Given the description of an element on the screen output the (x, y) to click on. 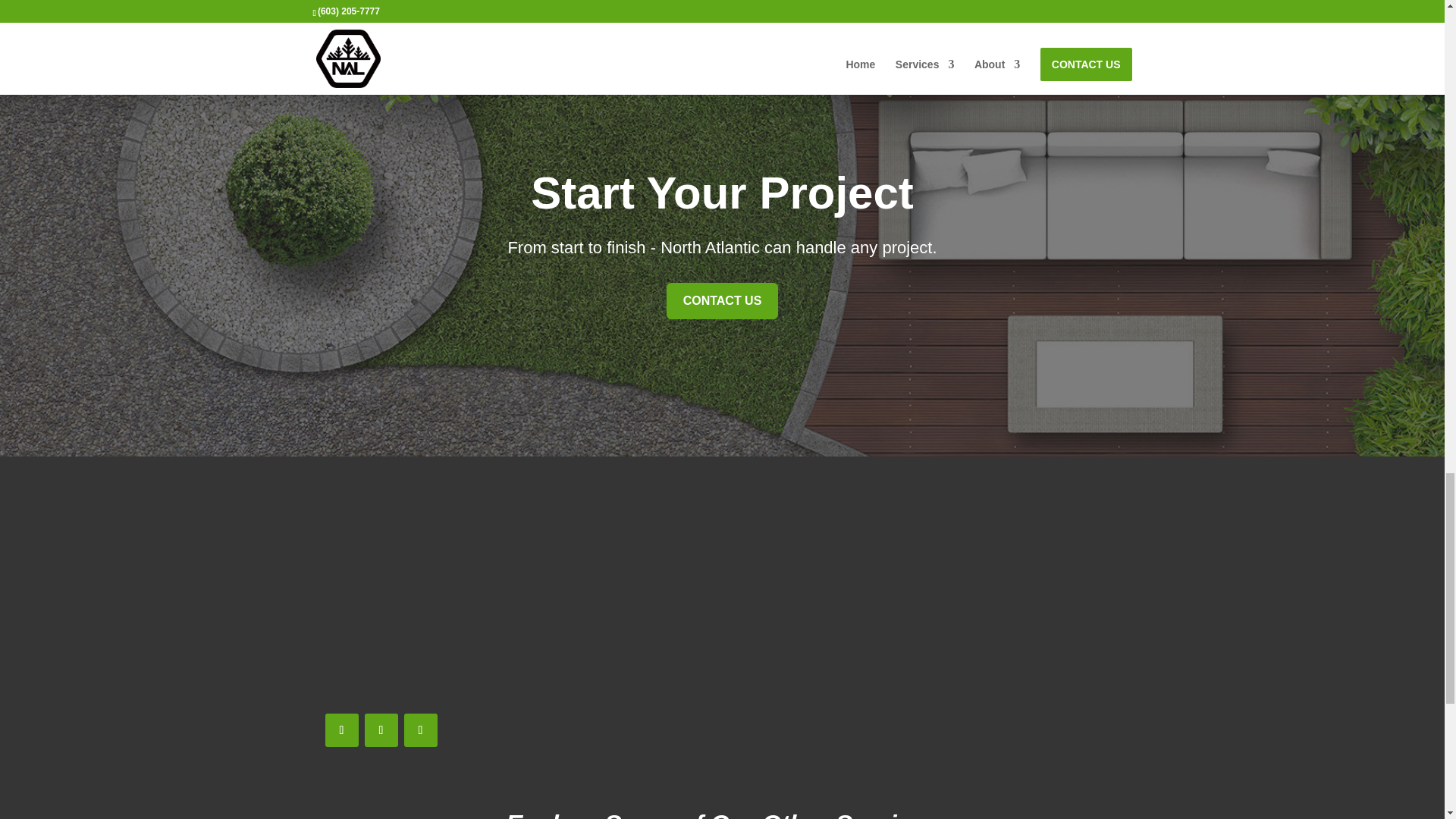
Follow on X (380, 729)
Follow on Facebook (341, 729)
CONTACT US (722, 300)
Follow on Instagram (419, 729)
